Given the description of an element on the screen output the (x, y) to click on. 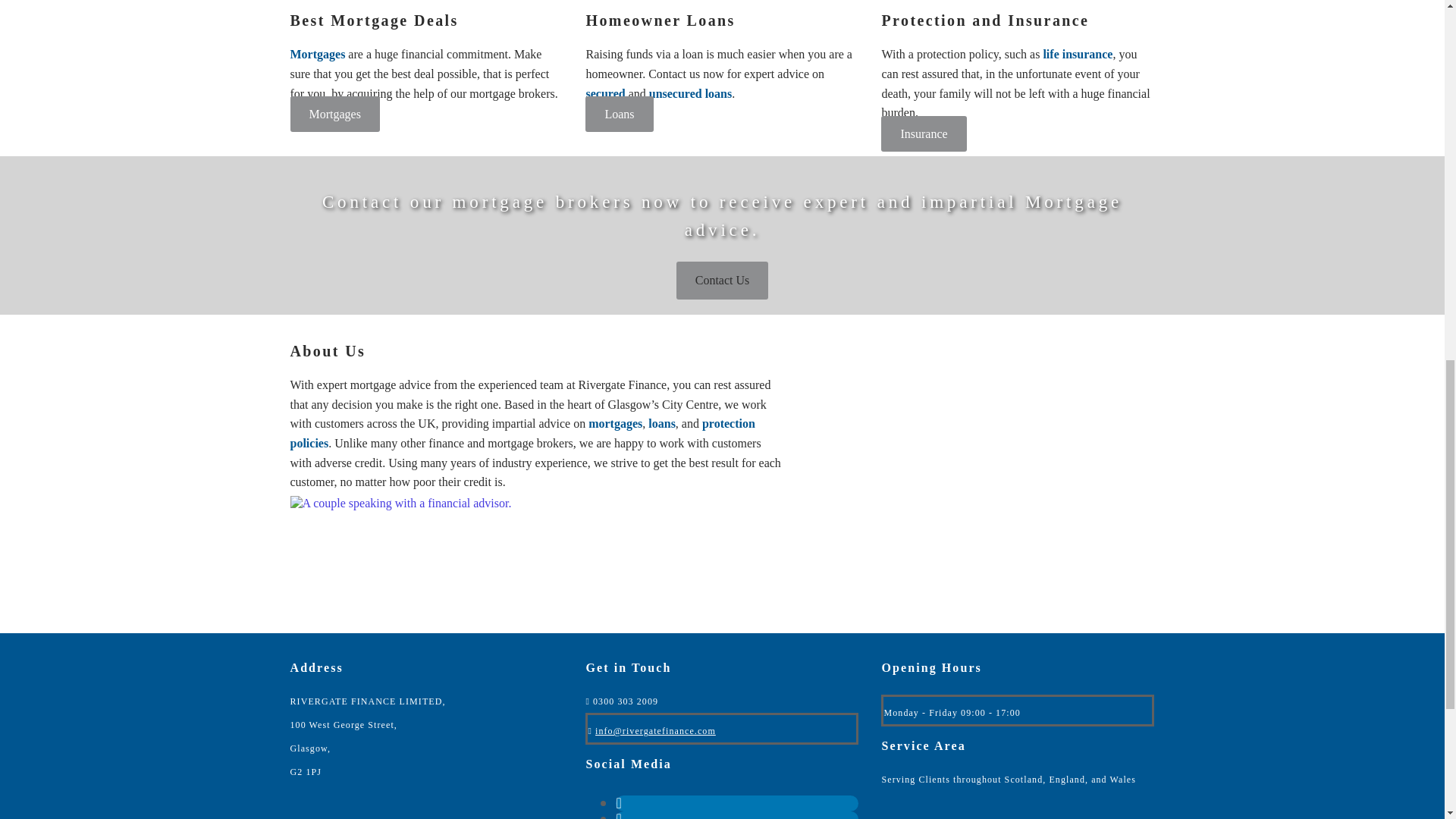
Find out more aobut our best mortgage deals in Glasgow. (333, 113)
loans (661, 422)
Mortgages (317, 53)
secured (604, 92)
protection policies (521, 432)
unsecured loans (690, 92)
Click here to find out more about our homeowner loans. (618, 113)
Mortgages (333, 113)
Contact Us (722, 279)
